Given the description of an element on the screen output the (x, y) to click on. 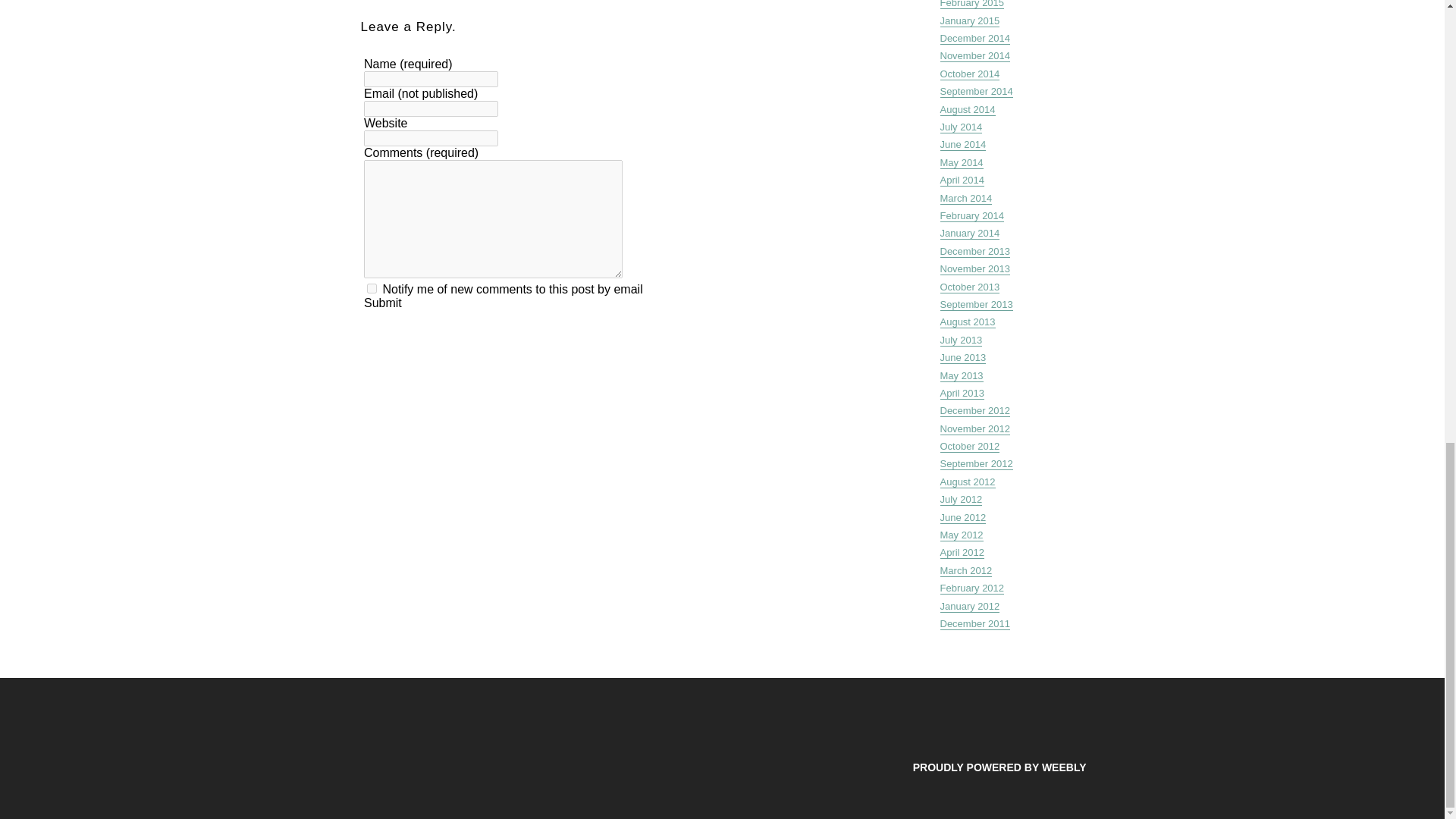
January 2015 (970, 21)
August 2014 (967, 110)
October 2014 (970, 73)
September 2014 (976, 91)
December 2014 (975, 38)
November 2014 (975, 55)
February 2015 (972, 4)
